Given the description of an element on the screen output the (x, y) to click on. 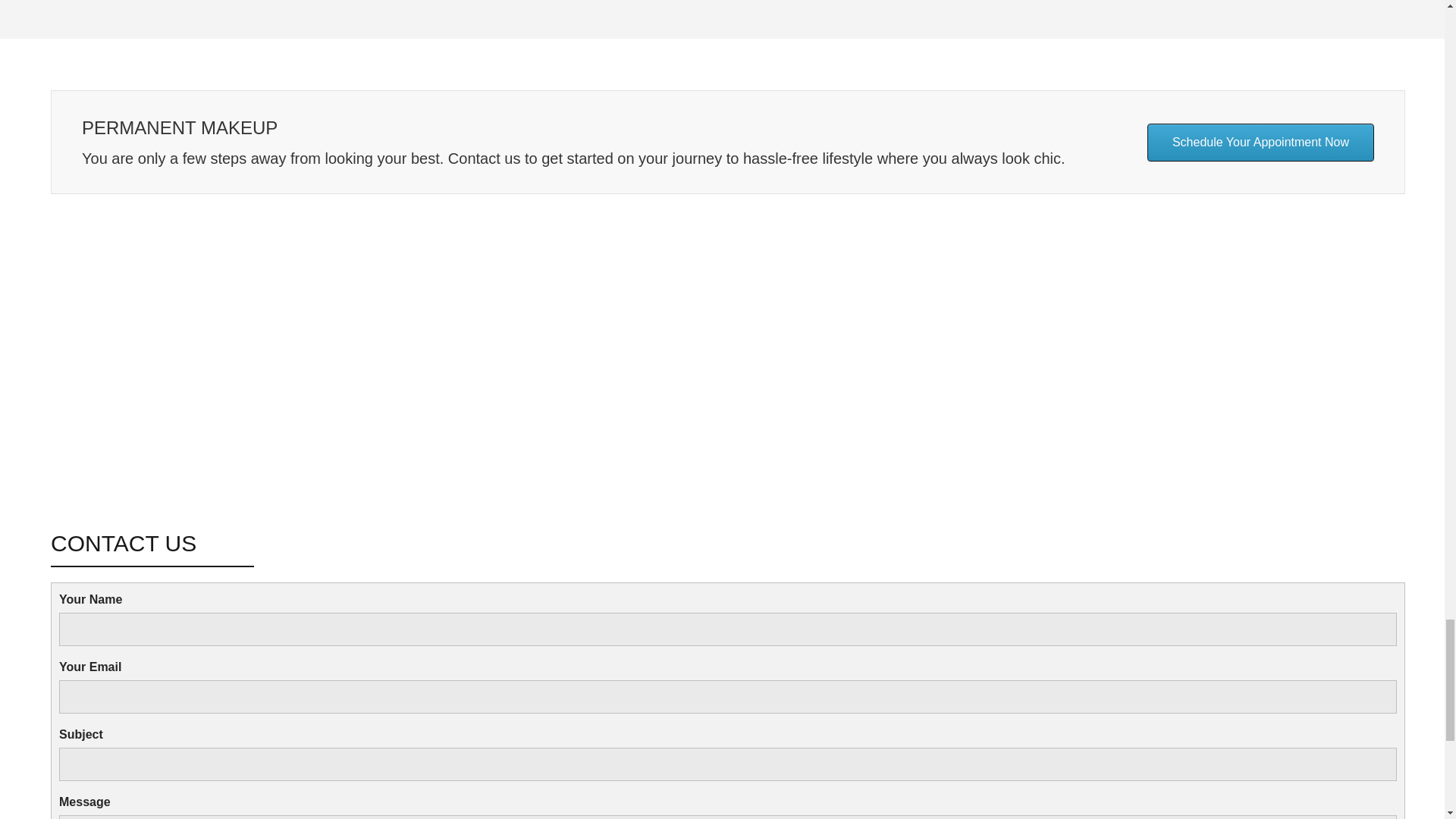
Schedule Your Appointment Now (1260, 142)
